Given the description of an element on the screen output the (x, y) to click on. 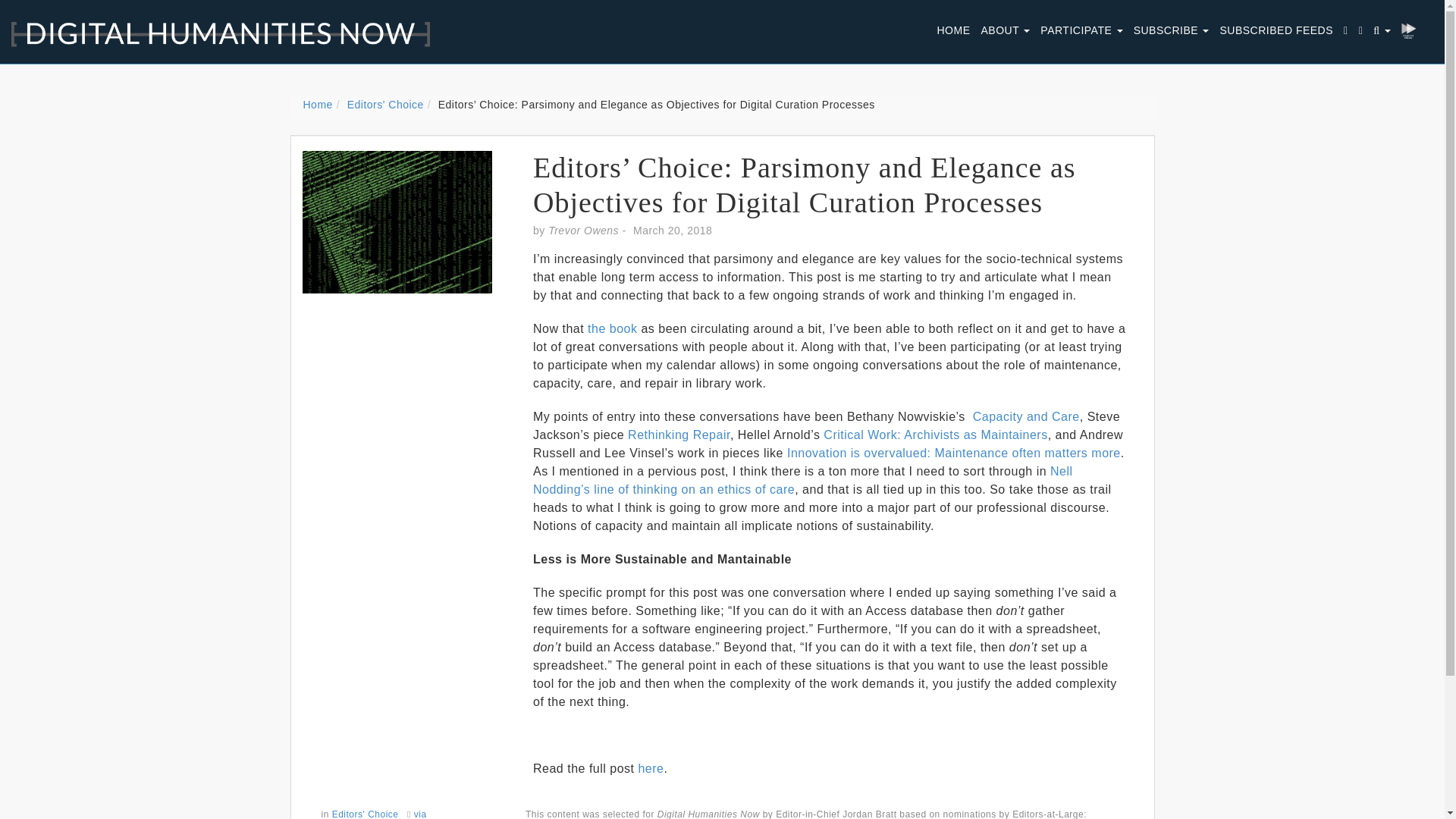
Innovation is overvalued: Maintenance often matters more (954, 452)
ABOUT (1005, 30)
via bookmarklet (373, 814)
Subscribed Feeds (1276, 30)
Home (317, 104)
Critical Work: Archivists as Maintainers (935, 434)
Rethinking Repair (678, 434)
HOME (953, 30)
SUBSCRIBE (1171, 30)
Editors' Choice (364, 814)
the book (612, 328)
Digital Humanities Now (214, 26)
Participate (1080, 30)
Capacity and Care (1026, 416)
About (1005, 30)
